Given the description of an element on the screen output the (x, y) to click on. 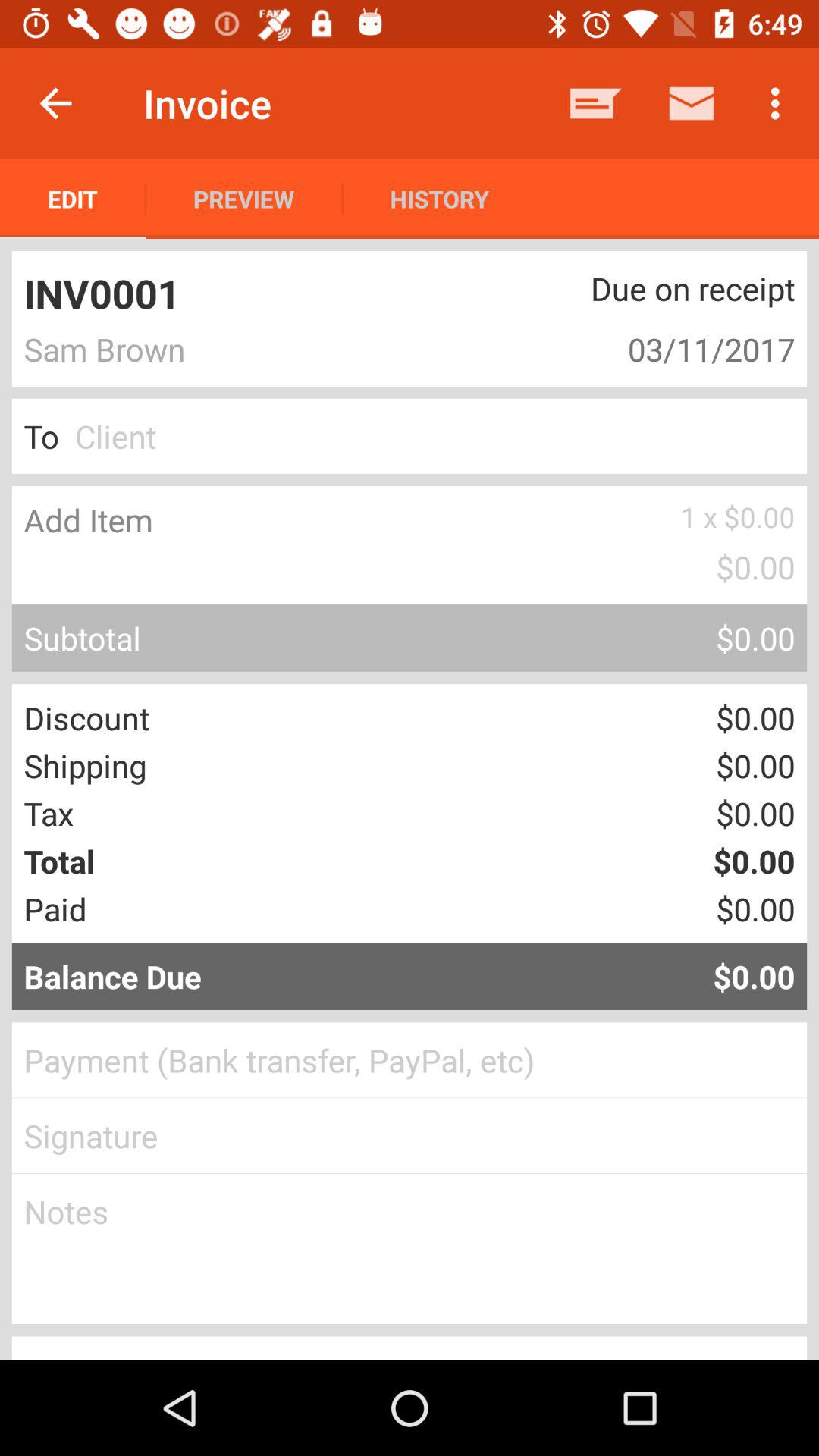
launch item next to invoice icon (55, 103)
